Given the description of an element on the screen output the (x, y) to click on. 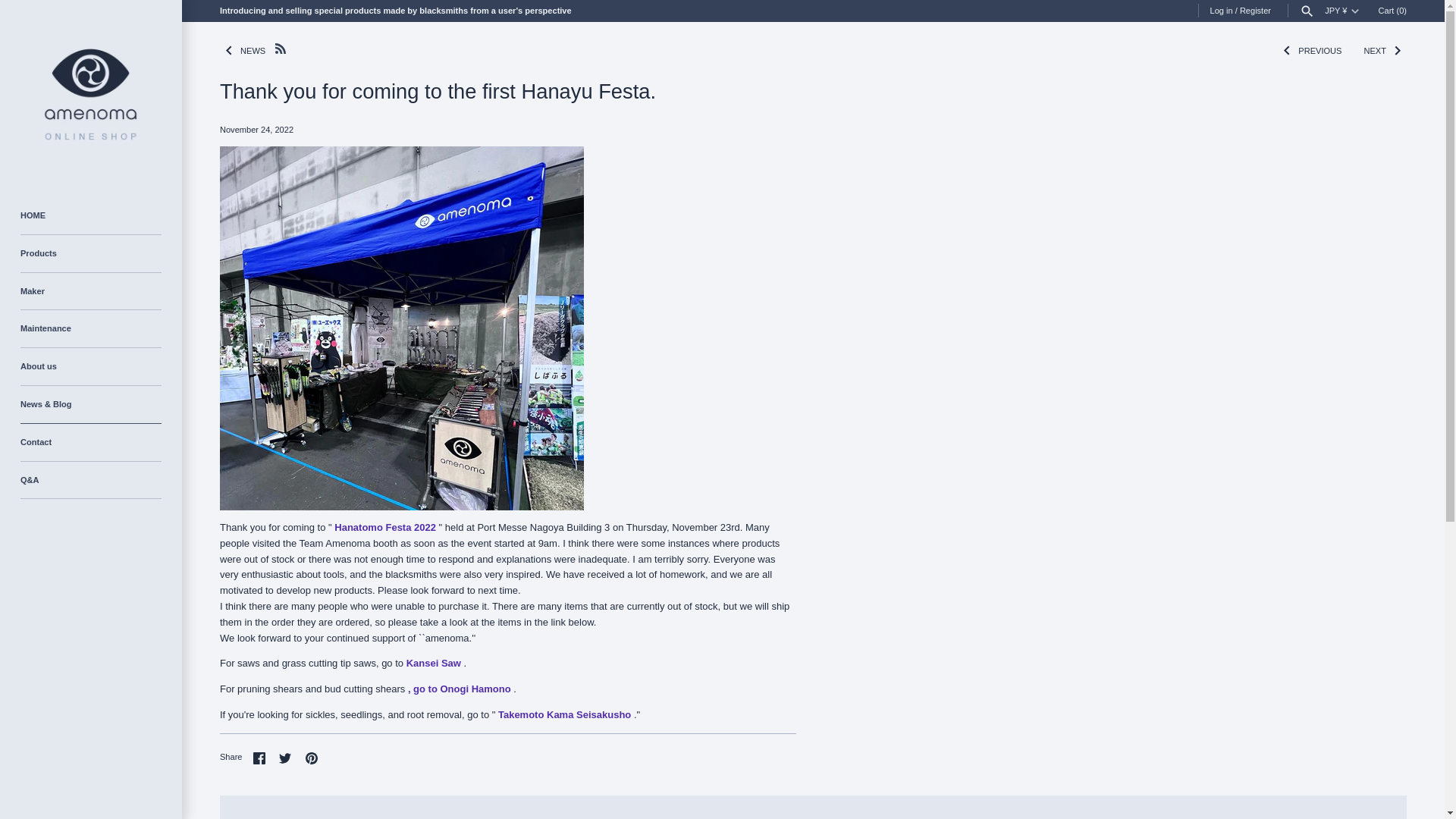
Products (90, 253)
Flower Friends Festa 2022 Carmen Event (384, 527)
Log in (1221, 10)
Twitter (285, 758)
Pinterest (311, 758)
LEFT (228, 50)
Facebook (258, 758)
Maker (90, 291)
news (243, 49)
LEFT (1286, 50)
RSS (280, 48)
RIGHT (1397, 50)
Kansai saw saw mowing tip saw ez shovel (433, 663)
Register (1255, 10)
HOME (90, 216)
